Given the description of an element on the screen output the (x, y) to click on. 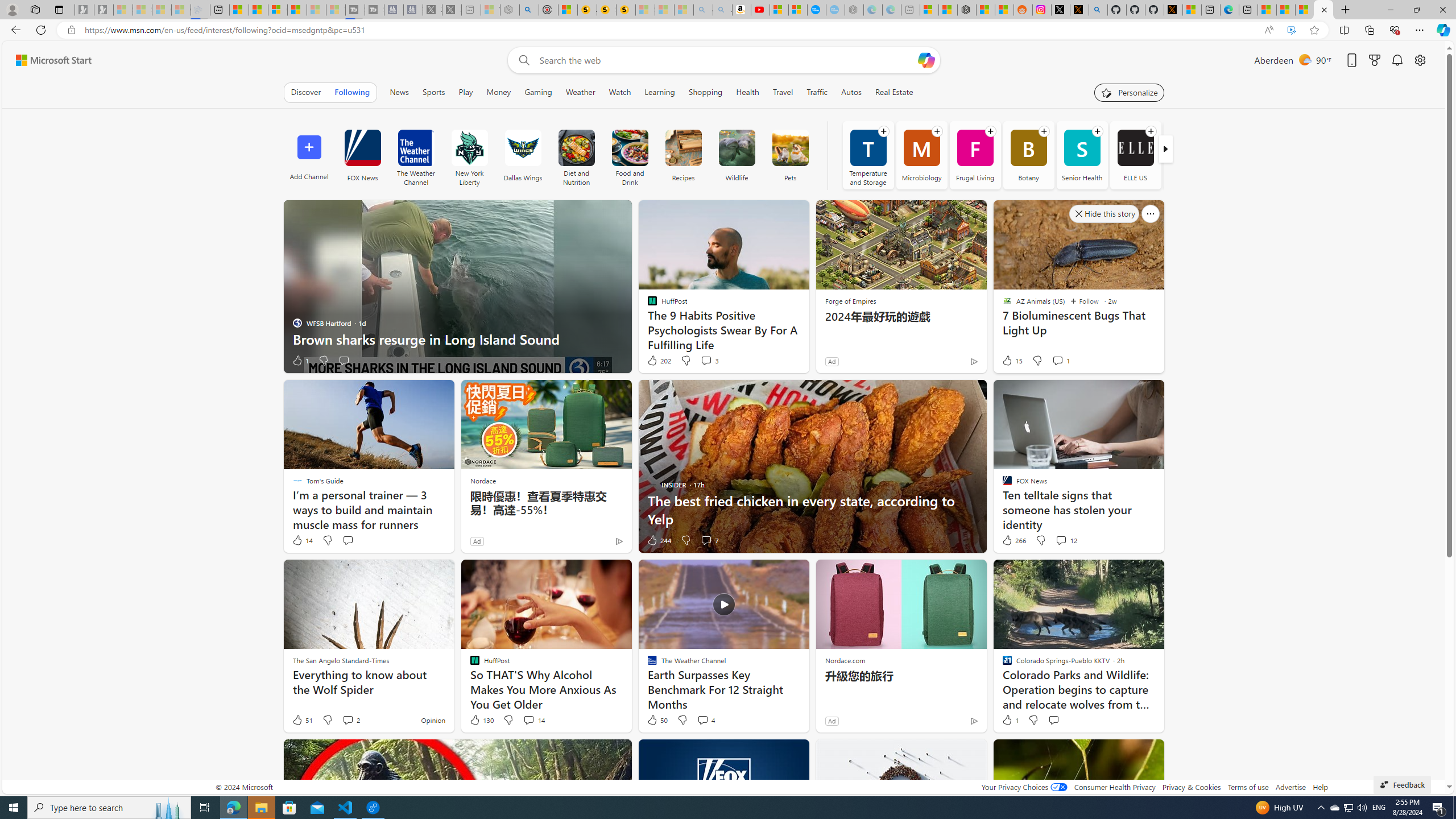
Frugal Living (975, 155)
poe - Search (529, 9)
Microsoft Start - Sleeping (315, 9)
Microsoft rewards (1374, 60)
Forge of Empires (850, 300)
View comments 2 Comment (350, 719)
Open settings (1420, 60)
New York Liberty (469, 155)
Your Privacy Choices (1024, 786)
View comments 1 Comment (1056, 360)
